Given the description of an element on the screen output the (x, y) to click on. 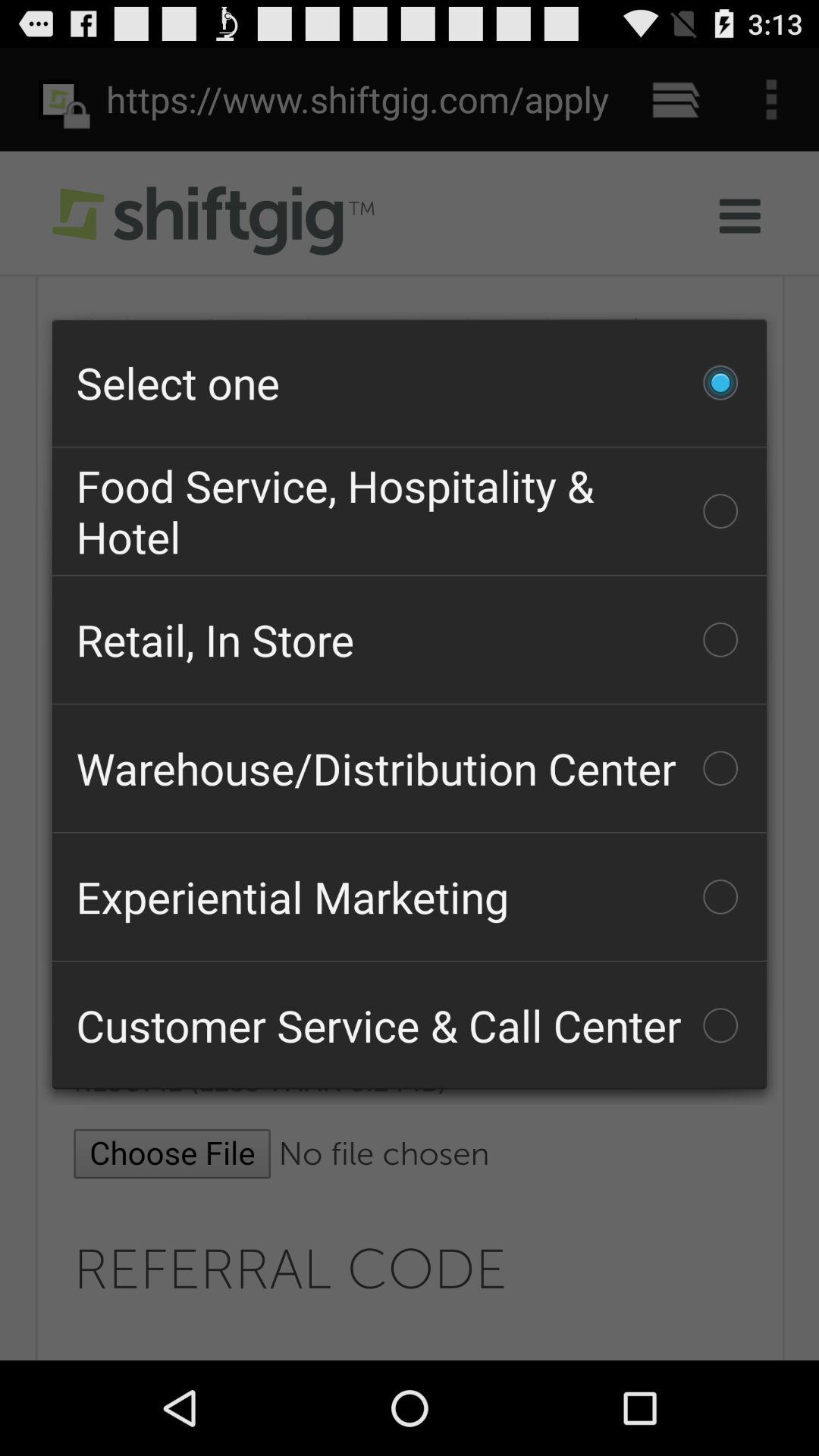
flip until the warehouse/distribution center checkbox (409, 768)
